Given the description of an element on the screen output the (x, y) to click on. 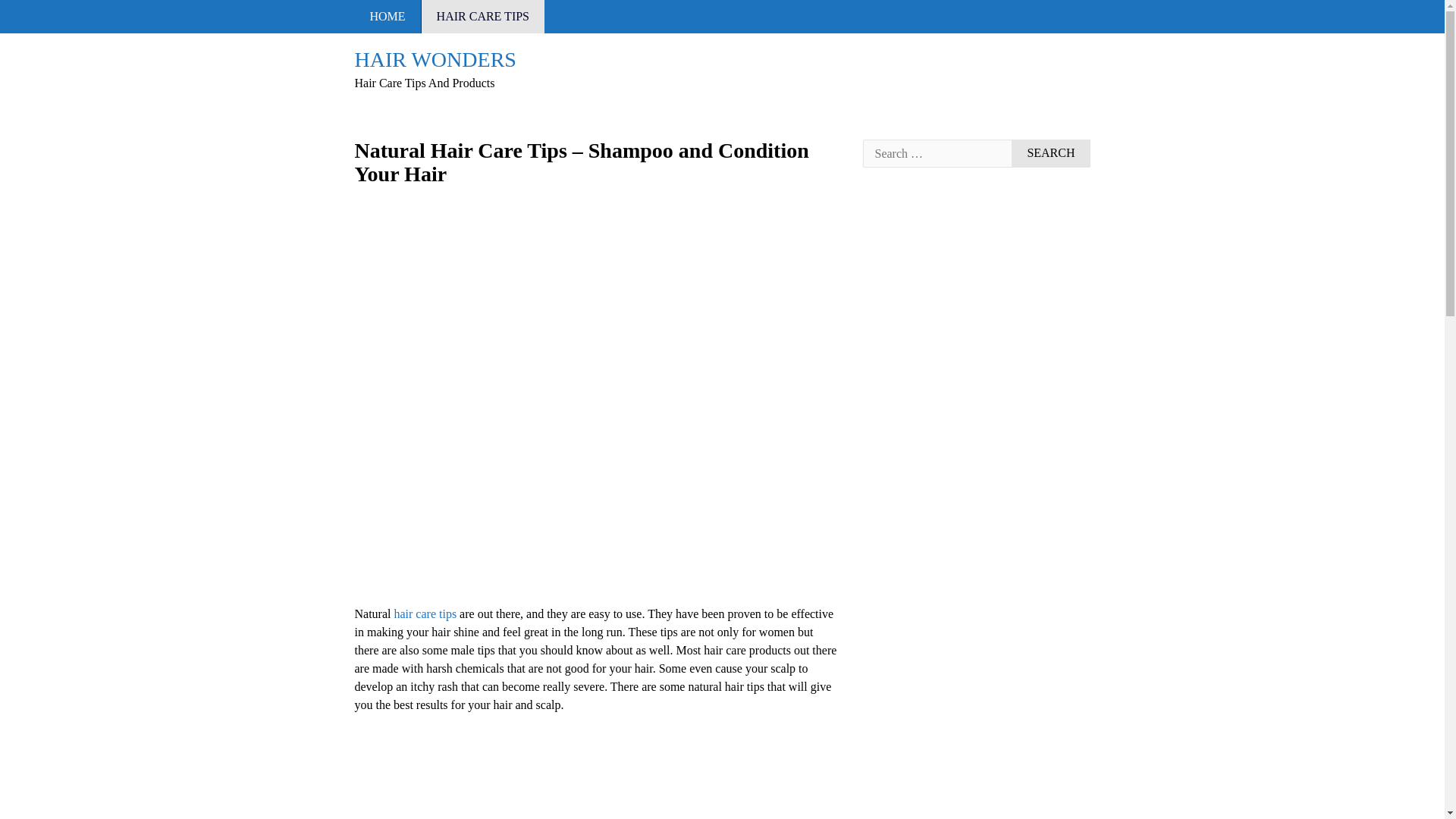
HAIR CARE TIPS (483, 16)
Search (1050, 153)
Search (1050, 153)
HAIR WONDERS (435, 59)
Hair Care Tips - Simple Way On How To Care For Your Hair (425, 613)
Hair Care Tips And Products (435, 59)
hair care tips (425, 613)
HOME (387, 16)
Search (1050, 153)
